Given the description of an element on the screen output the (x, y) to click on. 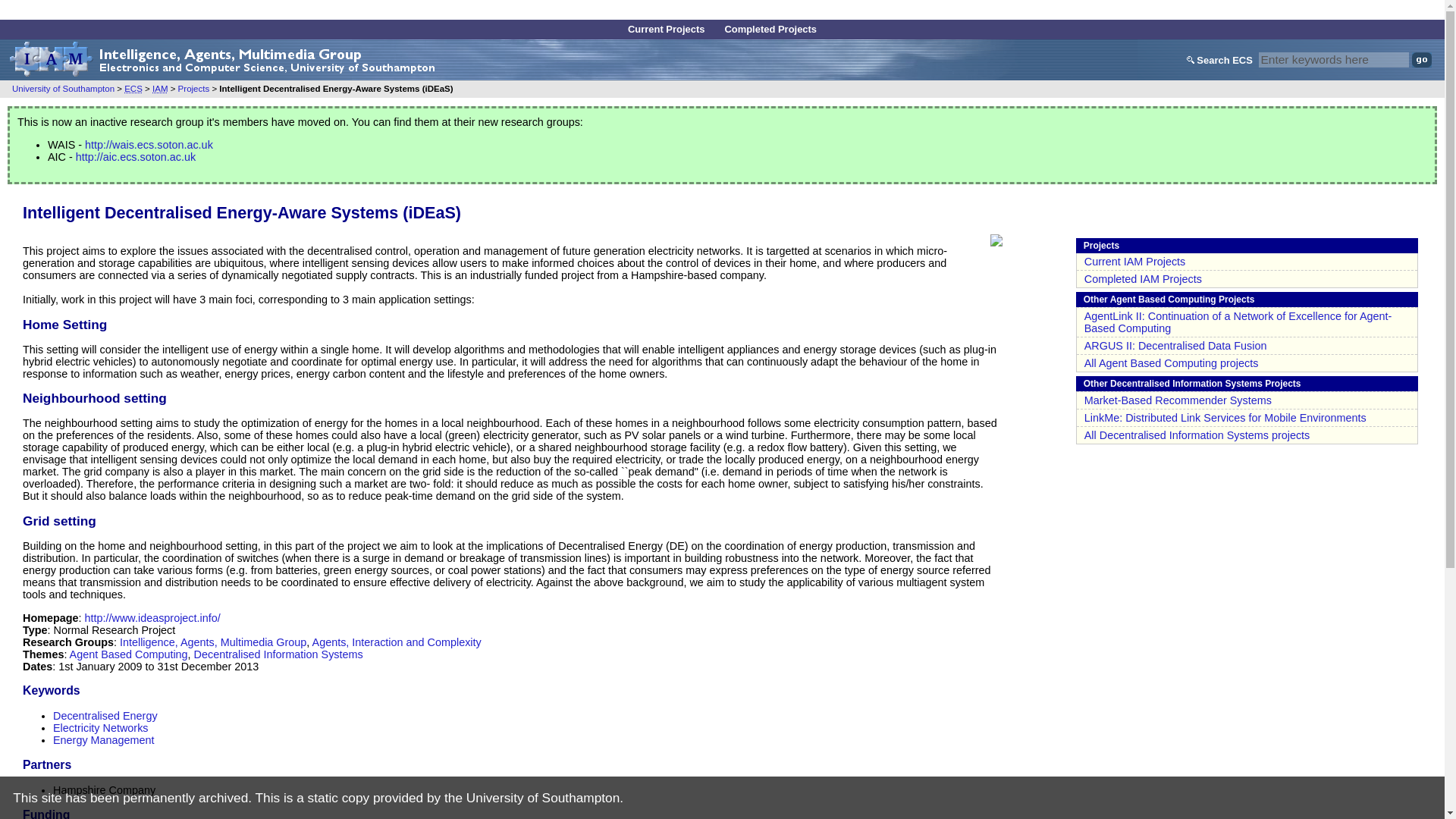
Projects (719, 11)
Publications (781, 11)
Current IAM Projects (1135, 261)
IAM (159, 88)
ECS (132, 88)
Seminars (662, 11)
Enter keywords here (1334, 59)
Home (501, 9)
All Agent Based Computing projects (1171, 363)
Energy Management (103, 739)
Projects (193, 88)
Decentralised Information Systems (277, 654)
Research Themes (585, 11)
Completed Projects (769, 29)
